Given the description of an element on the screen output the (x, y) to click on. 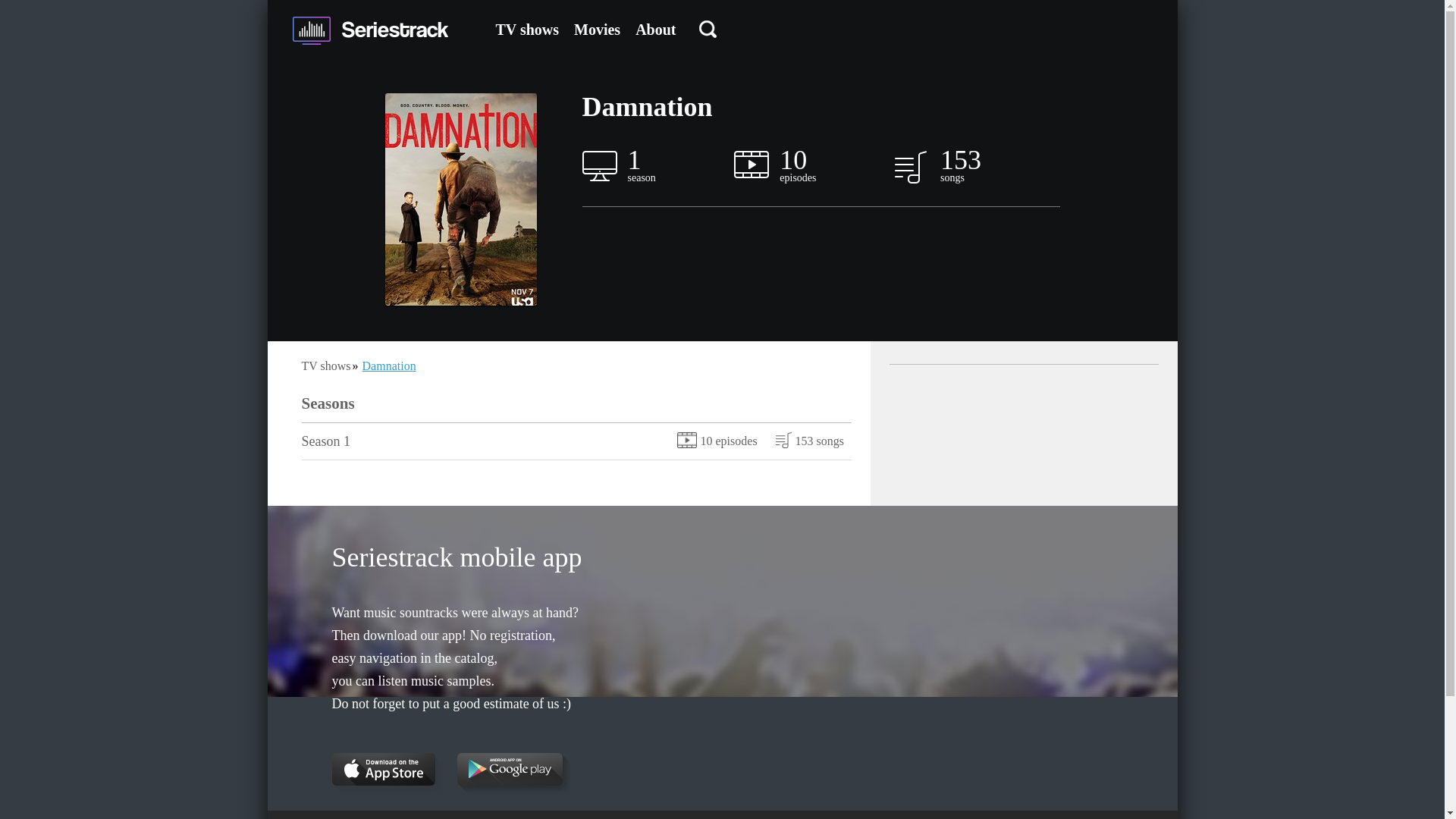
TV shows (325, 365)
Damnation (389, 365)
Movies (596, 29)
About (654, 29)
TV shows (527, 29)
